Given the description of an element on the screen output the (x, y) to click on. 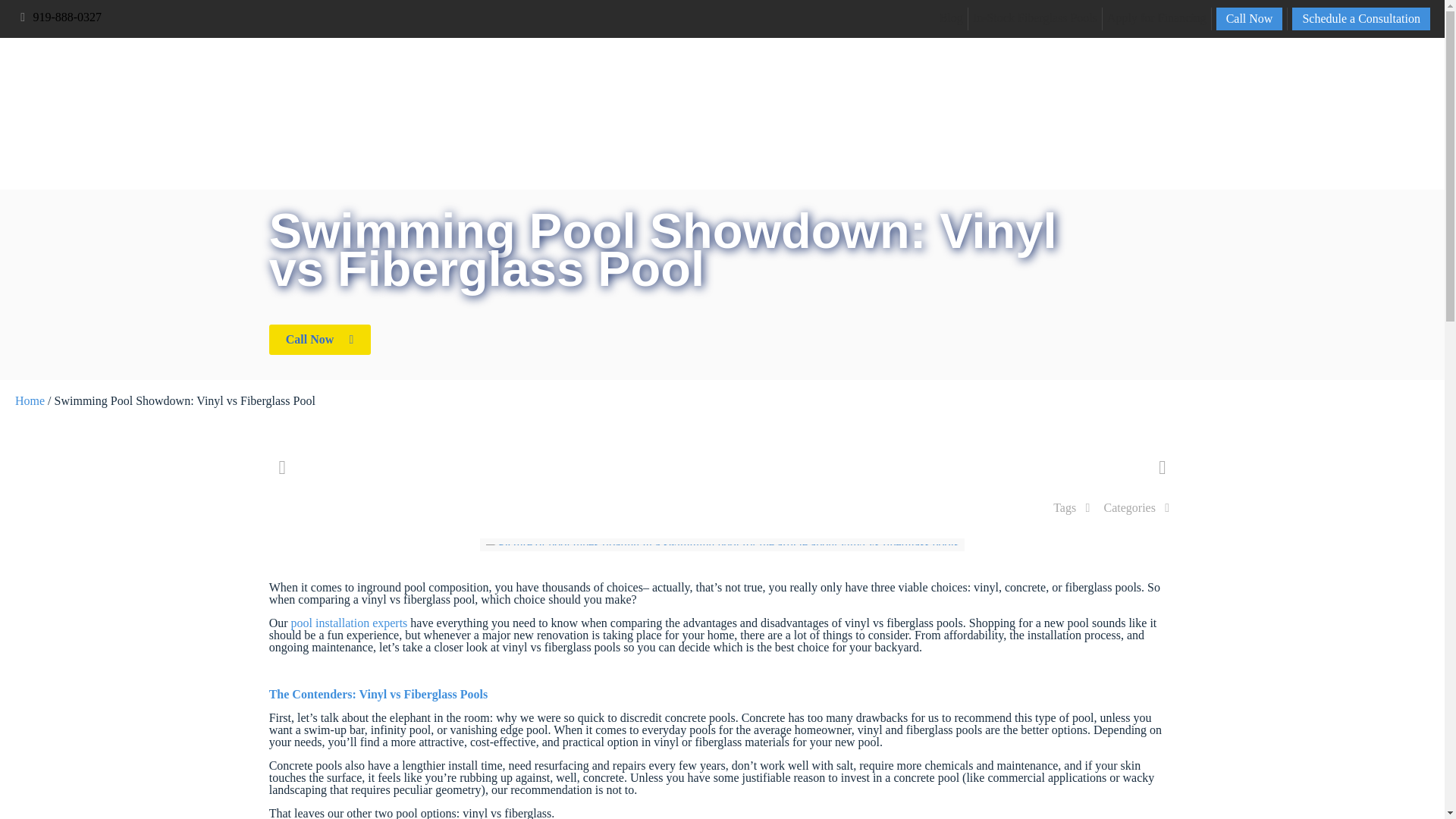
Blog (950, 17)
In-Stock Fiberglass Pools (1034, 17)
919-888-0327 (66, 16)
Apply for Financing (1156, 17)
Schedule a Consultation (1360, 18)
Call Now (1248, 18)
